Given the description of an element on the screen output the (x, y) to click on. 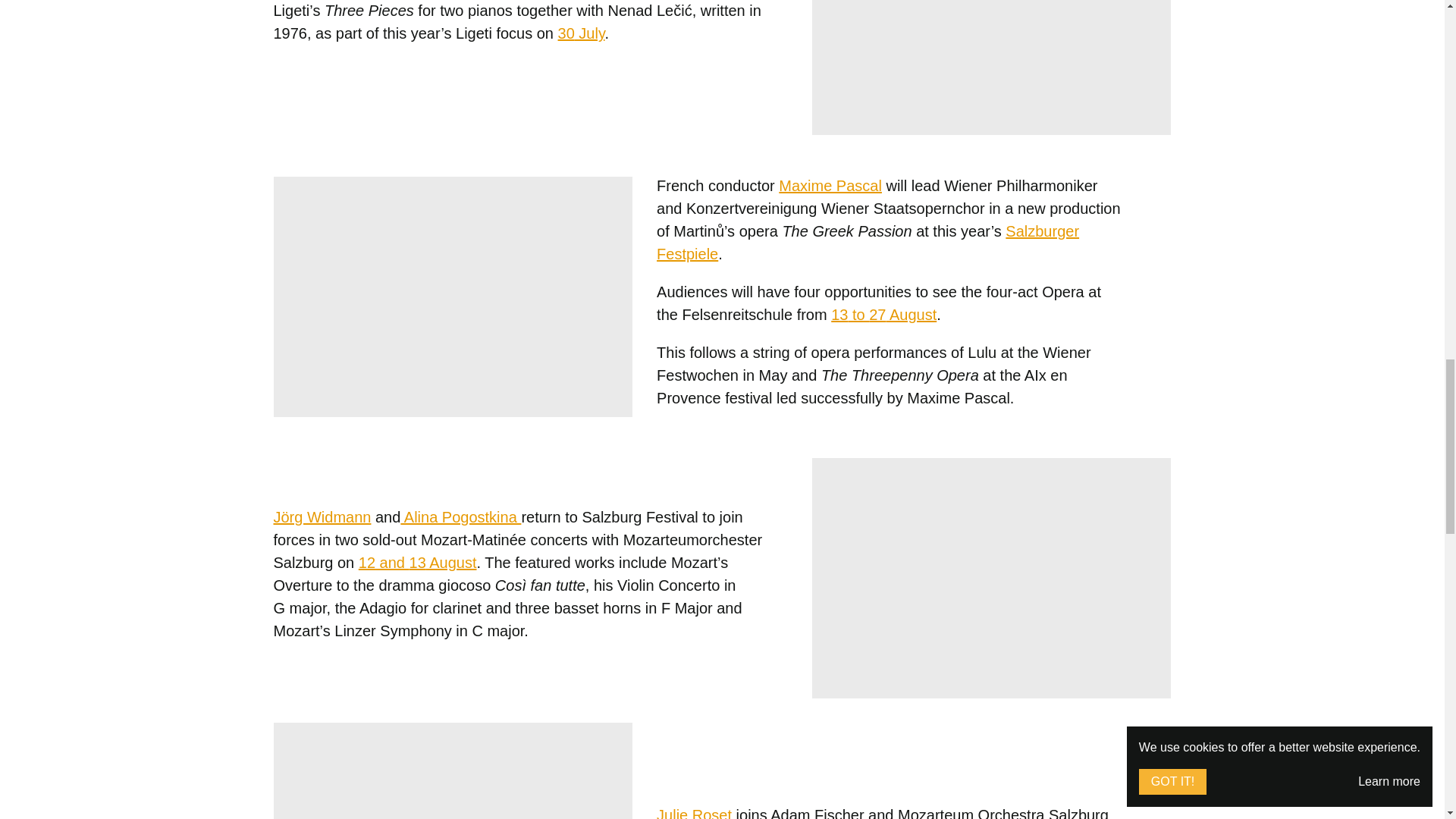
Salzburger Festpiele (867, 242)
Alina Pogostkina (460, 515)
13 to 27 August (883, 314)
30 July (581, 33)
12 and 13 August (417, 561)
Maxime Pascal (830, 185)
Julie Roset (694, 812)
